Given the description of an element on the screen output the (x, y) to click on. 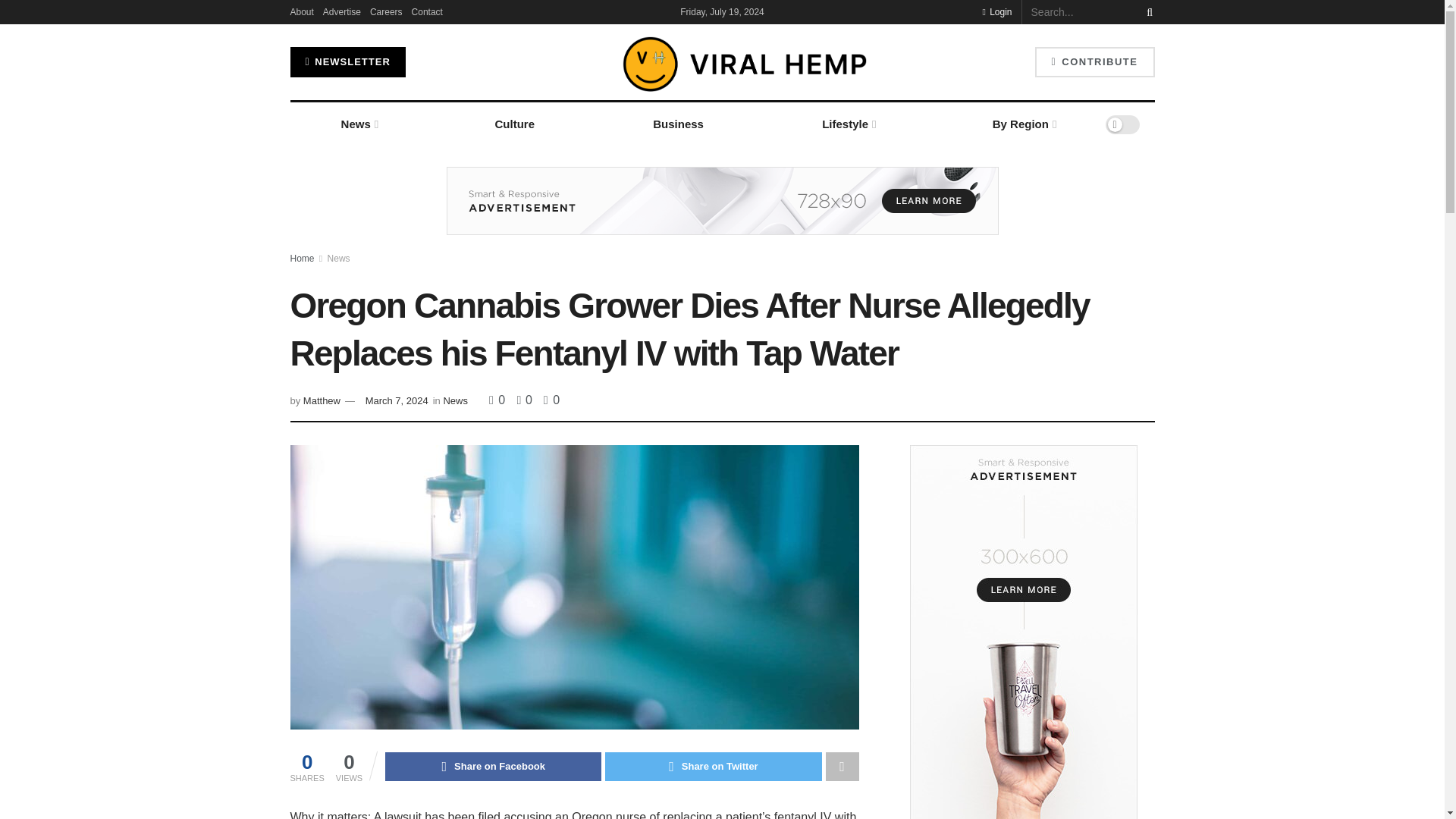
Careers (386, 12)
About (301, 12)
News (357, 124)
By Region (1023, 124)
Login (996, 12)
CONTRIBUTE (1094, 61)
Business (678, 124)
Contact (427, 12)
Culture (514, 124)
Lifestyle (847, 124)
Advertise (342, 12)
NEWSLETTER (346, 61)
